Given the description of an element on the screen output the (x, y) to click on. 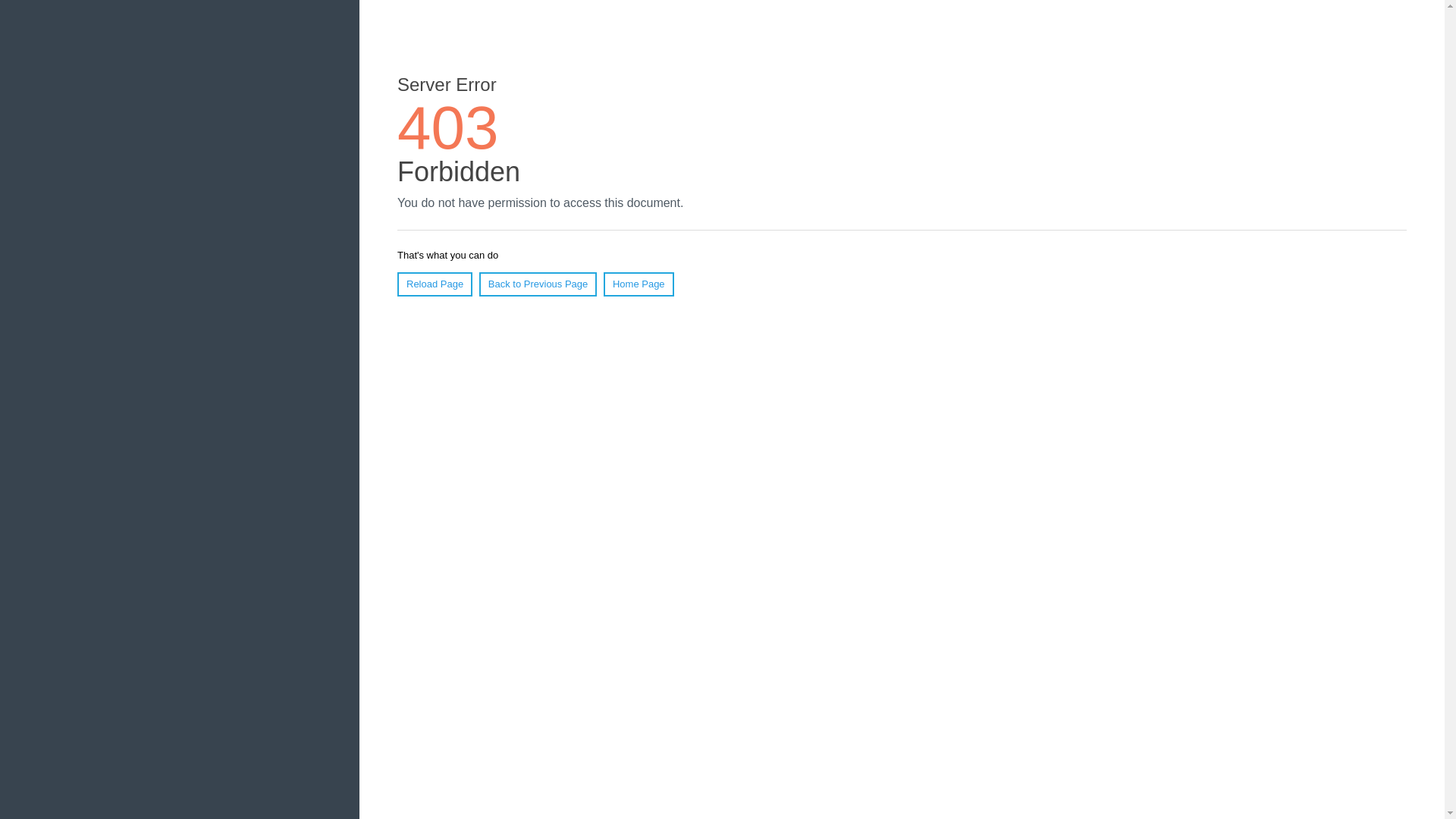
Reload Page (434, 283)
Home Page (639, 283)
Back to Previous Page (537, 283)
